Given the description of an element on the screen output the (x, y) to click on. 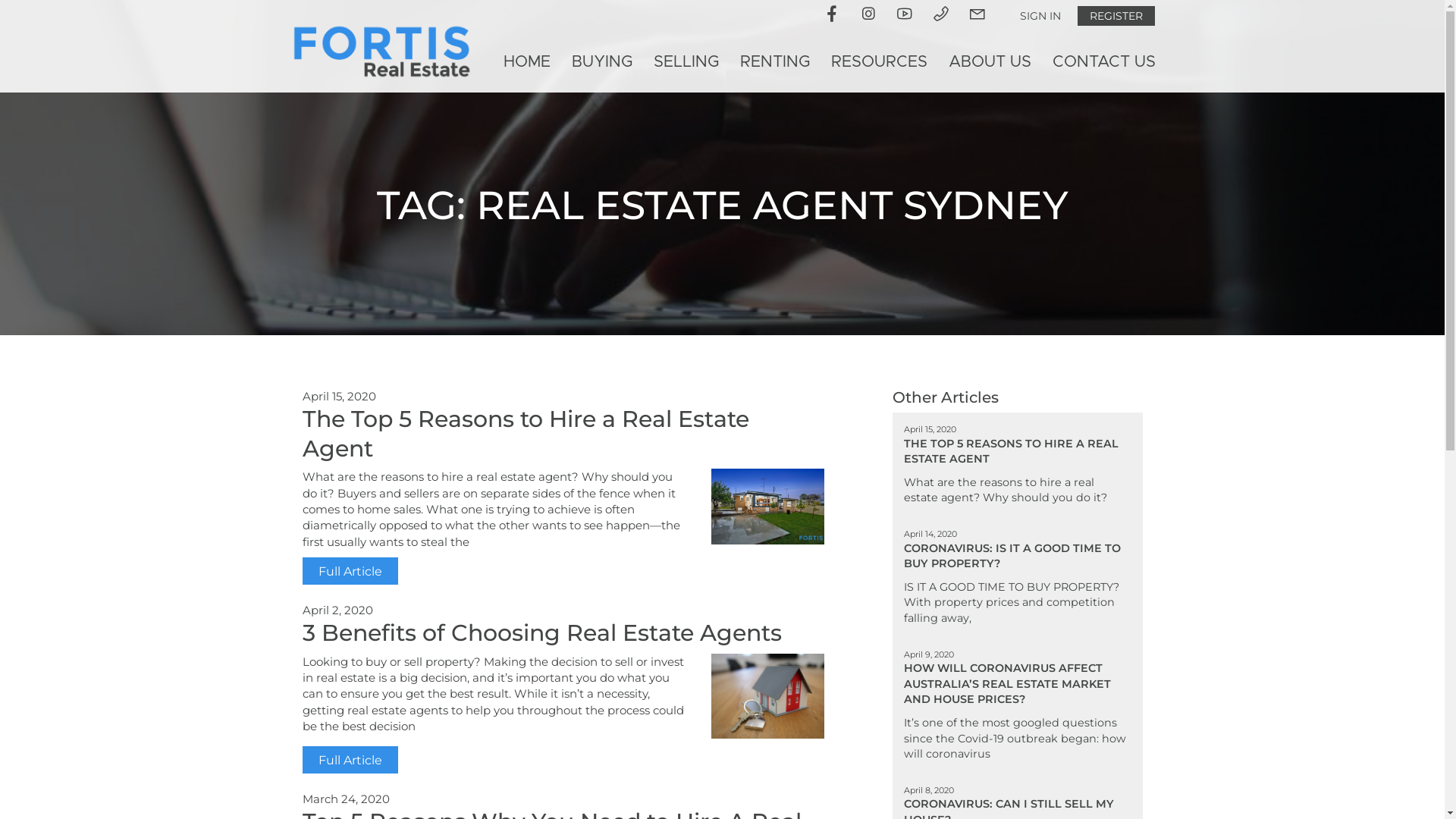
SELLING Element type: text (686, 61)
The Top 5 Reasons to Hire a Real Estate Agent Element type: text (524, 432)
HOME Element type: text (526, 61)
SIGN IN Element type: text (1039, 15)
ABOUT US Element type: text (989, 61)
April 2, 2020 Element type: text (336, 609)
BUYING Element type: text (602, 61)
CONTACT US Element type: text (1103, 61)
RENTING Element type: text (774, 61)
April 15, 2020 Element type: text (338, 396)
3 Benefits of Choosing Real Estate Agents Element type: text (541, 632)
Full Article Element type: text (349, 759)
Full Article Element type: text (349, 570)
March 24, 2020 Element type: text (345, 798)
REGISTER Element type: text (1115, 15)
RESOURCES Element type: text (879, 61)
